Given the description of an element on the screen output the (x, y) to click on. 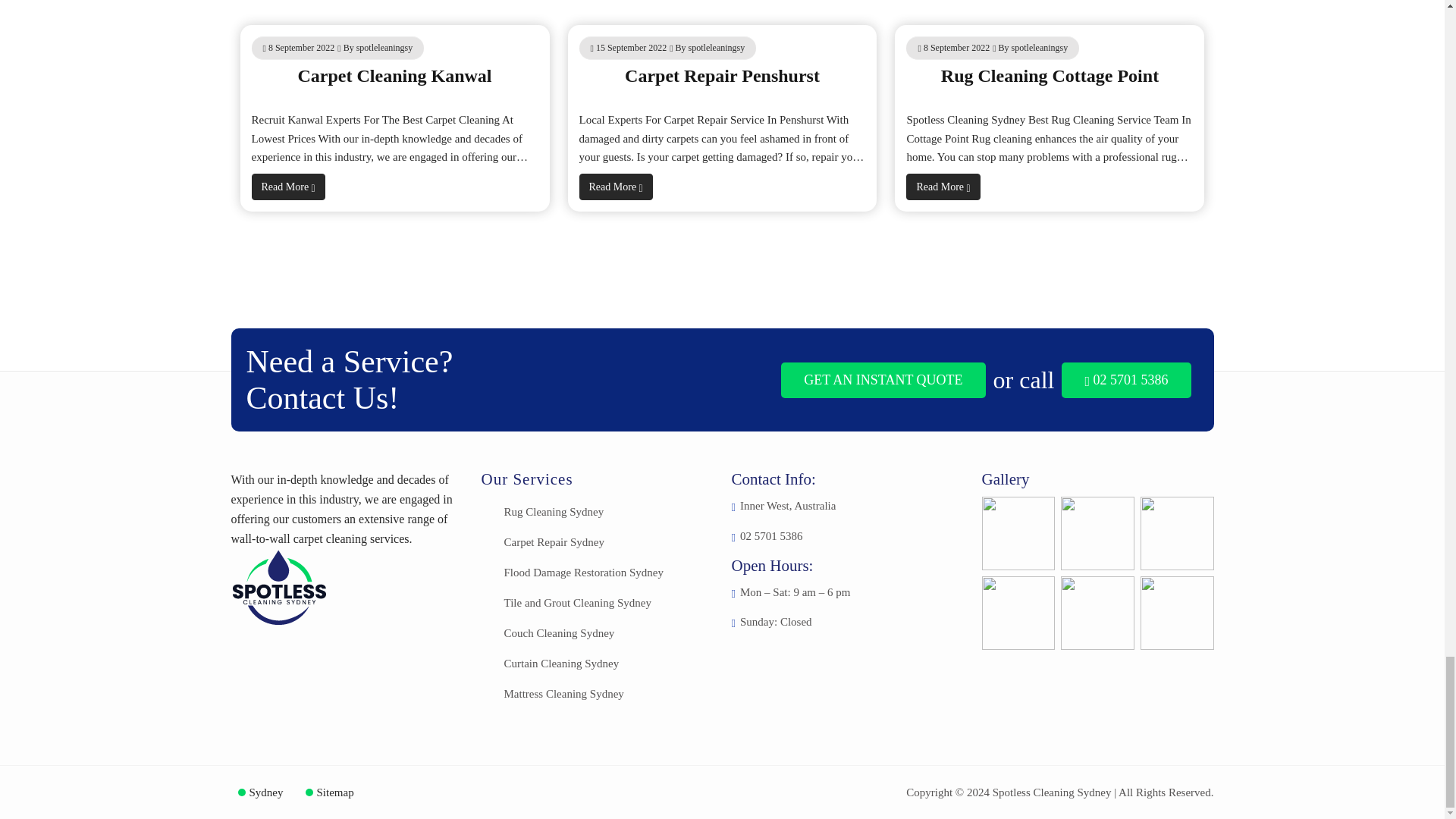
Carpet Cleaning Kanwal (394, 75)
Read More (287, 186)
Carpet Cleaning Kanwal (394, 75)
Rug Cleaning Cottage Point (1049, 75)
Carpet Repair Penshurst (721, 75)
Carpet Repair Penshurst (721, 75)
